Given the description of an element on the screen output the (x, y) to click on. 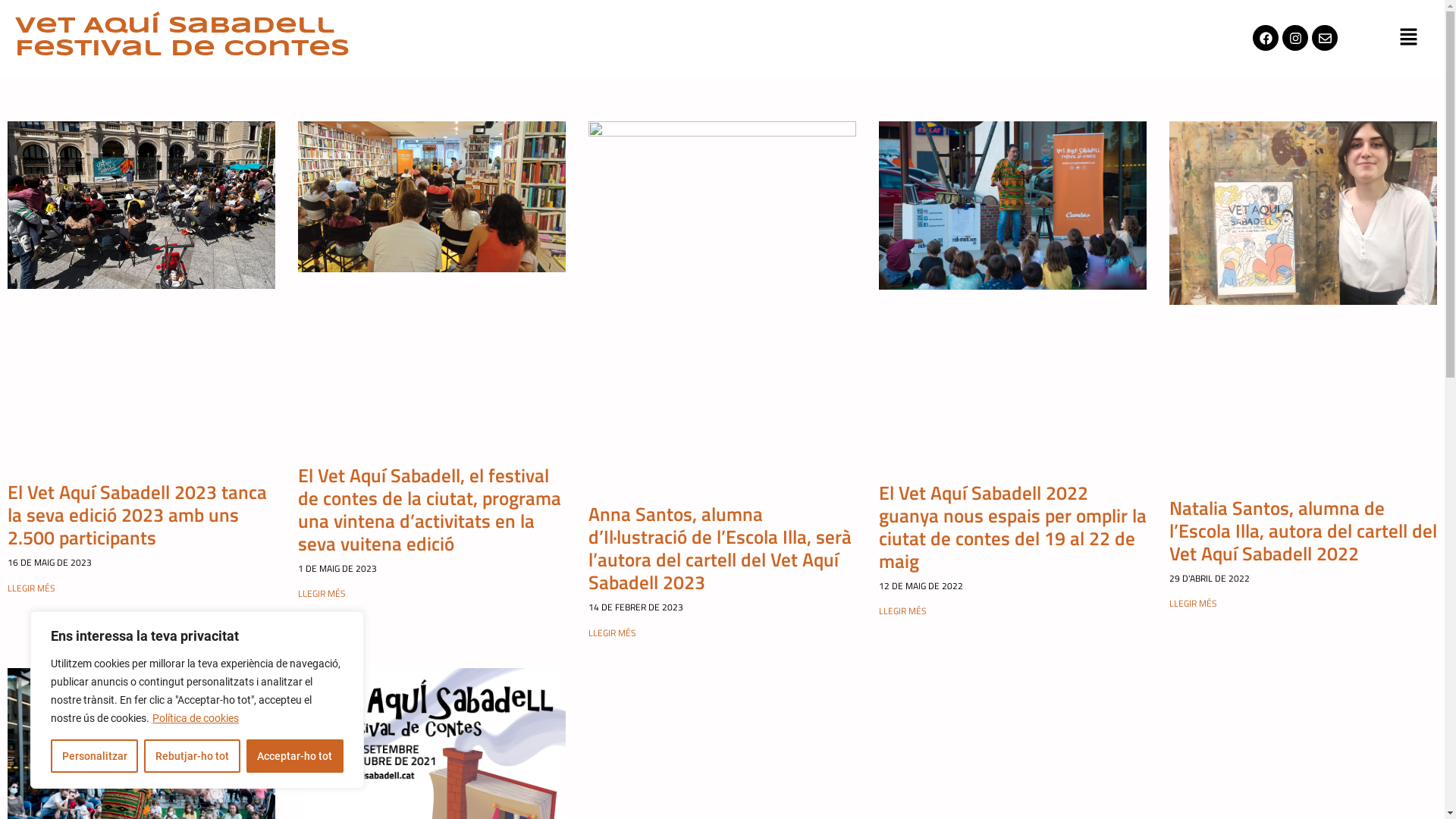
Personalitzar Element type: text (94, 755)
Rebutjar-ho tot Element type: text (191, 755)
Acceptar-ho tot Element type: text (294, 755)
